Given the description of an element on the screen output the (x, y) to click on. 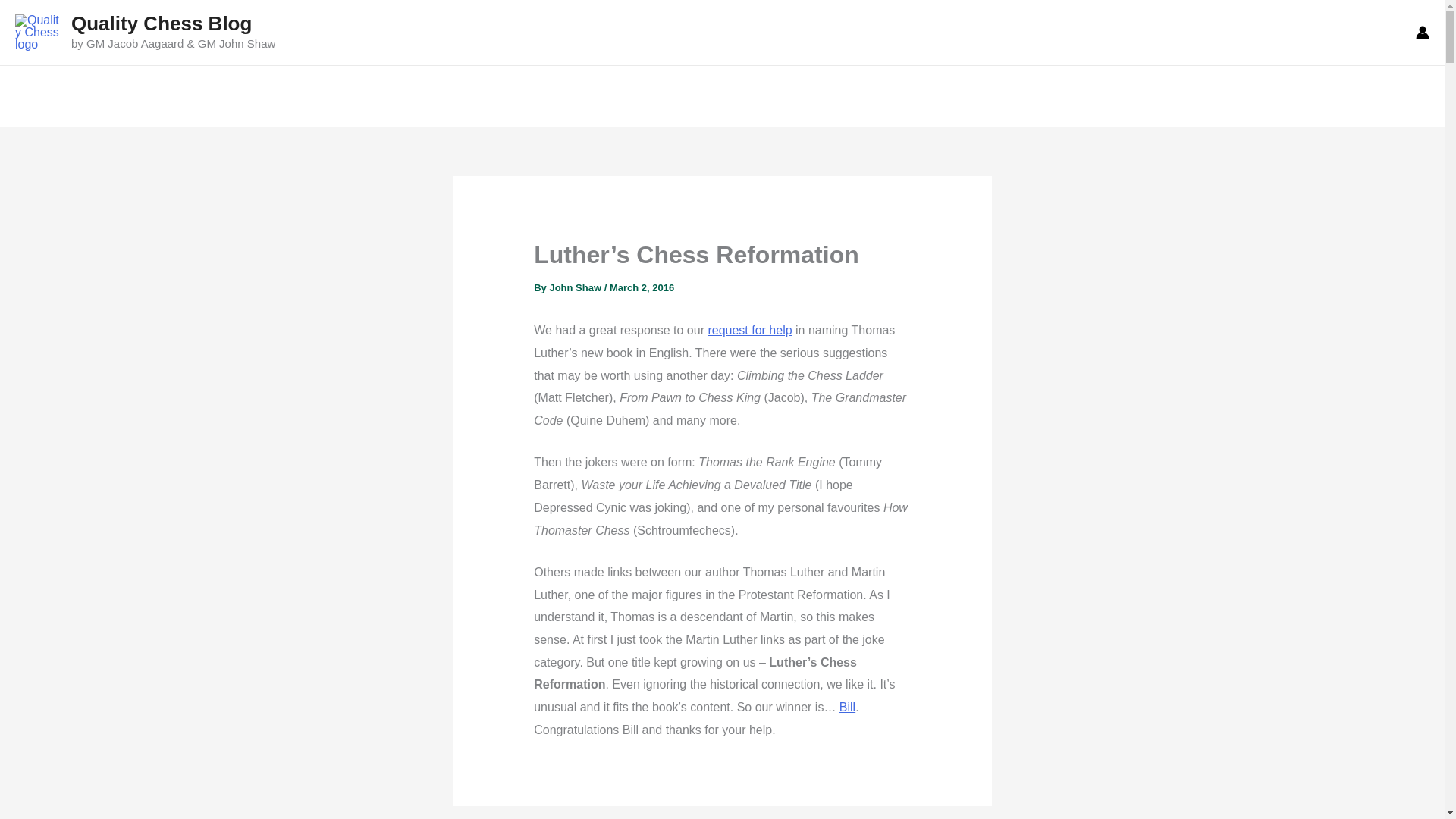
GM Repertoire (337, 96)
Authors in Action (220, 96)
Prizes (580, 96)
Reviews (513, 96)
Bill (848, 707)
request for help (749, 329)
Newsletter (434, 96)
Publishing Schedule (86, 96)
View all posts by John Shaw (576, 287)
Quality Chess Blog (161, 23)
